Given the description of an element on the screen output the (x, y) to click on. 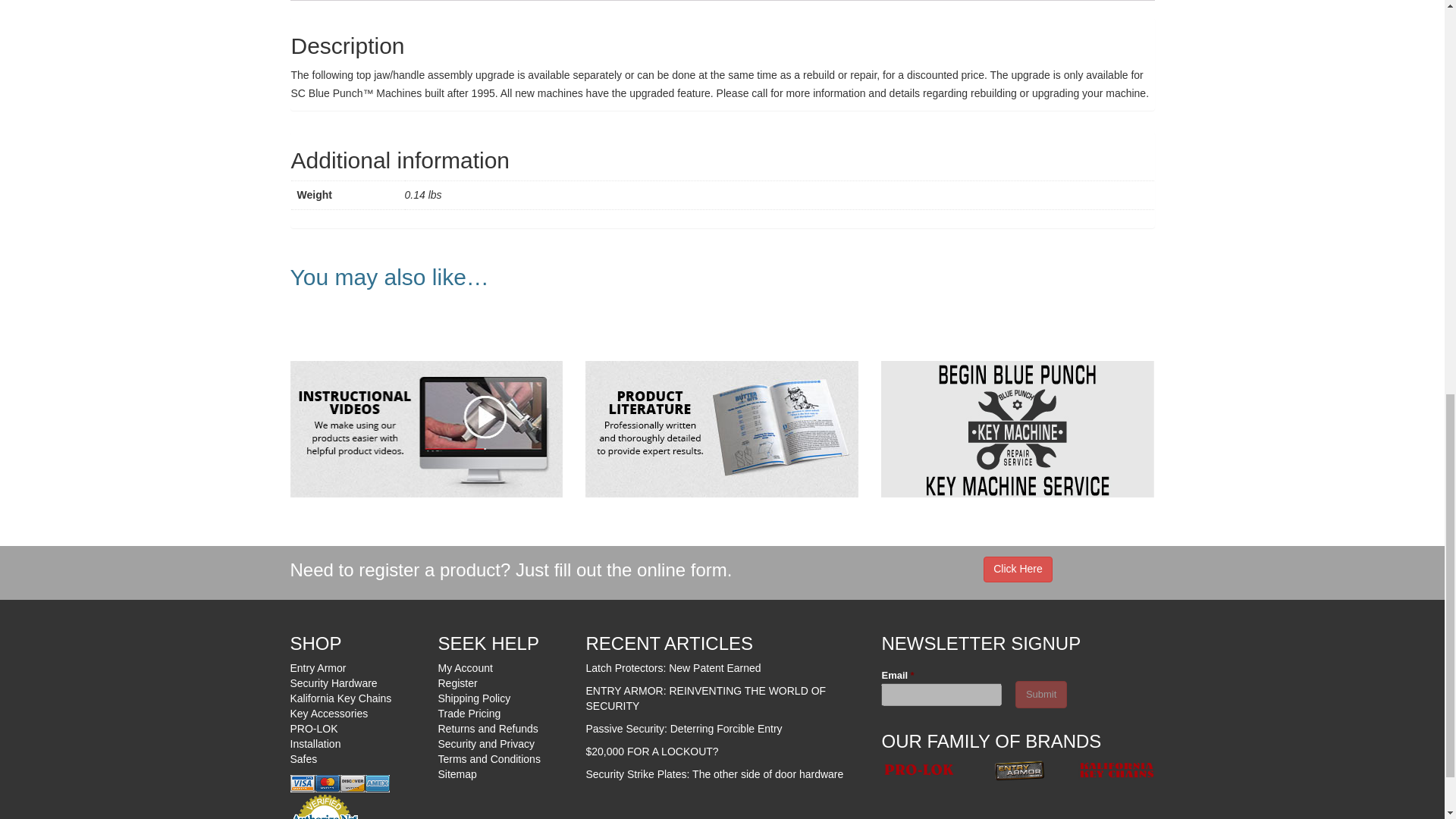
Major Credit Cards Accepted (338, 783)
Submit (1040, 694)
